Given the description of an element on the screen output the (x, y) to click on. 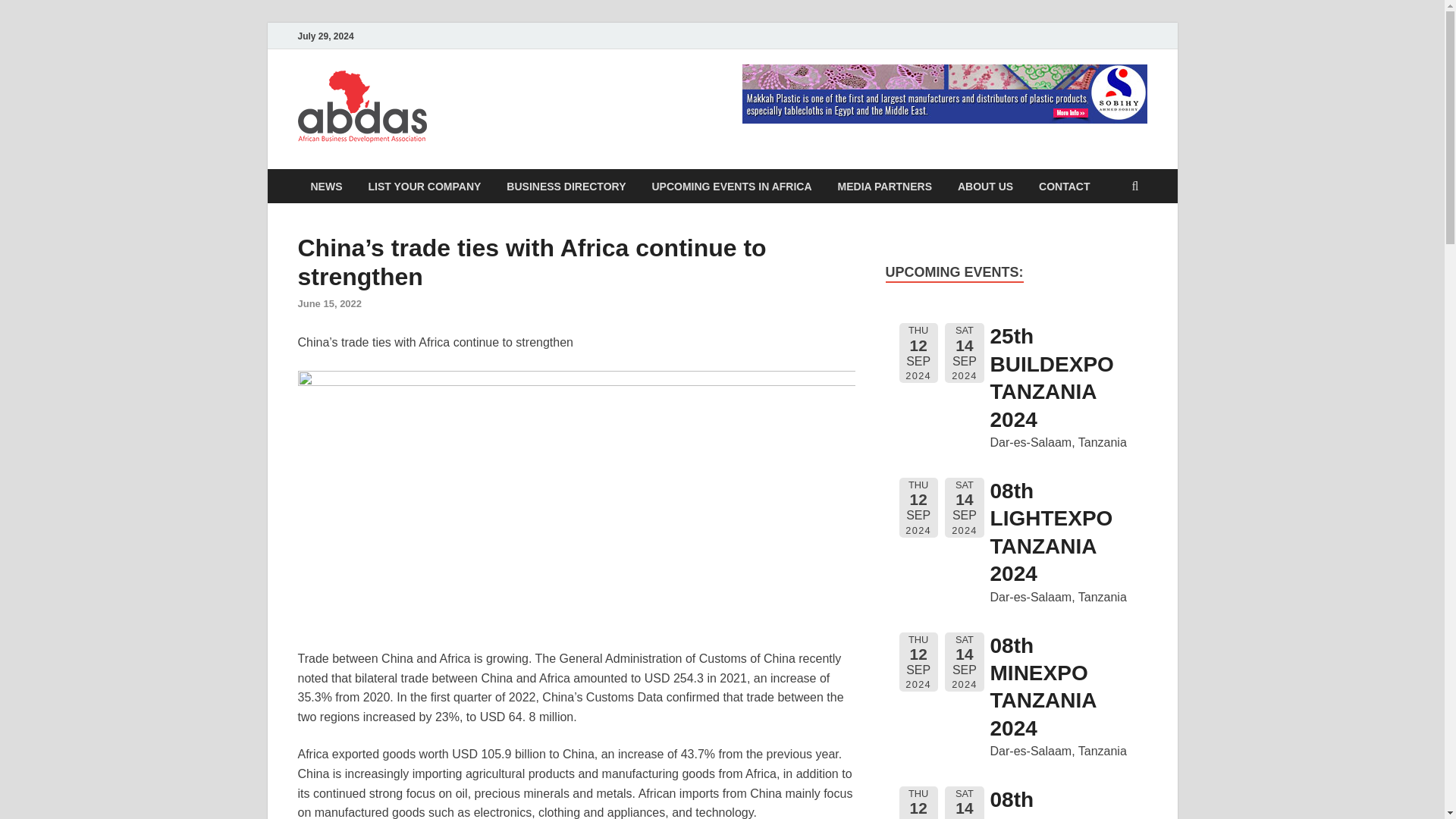
MEDIA PARTNERS (884, 185)
08th AFRIWOOD TANZANIA 2024 (1049, 803)
June 15, 2022 (329, 303)
25th BUILDEXPO TANZANIA 2024 (1051, 377)
08th LIGHTEXPO TANZANIA 2024 (1051, 532)
ABOUT US (985, 185)
08th MINEXPO TANZANIA 2024 (1043, 686)
BUSINESS DIRECTORY (566, 185)
NEWS (326, 185)
LIST YOUR COMPANY (424, 185)
UPCOMING EVENTS IN AFRICA (731, 185)
CONTACT (1064, 185)
